Given the description of an element on the screen output the (x, y) to click on. 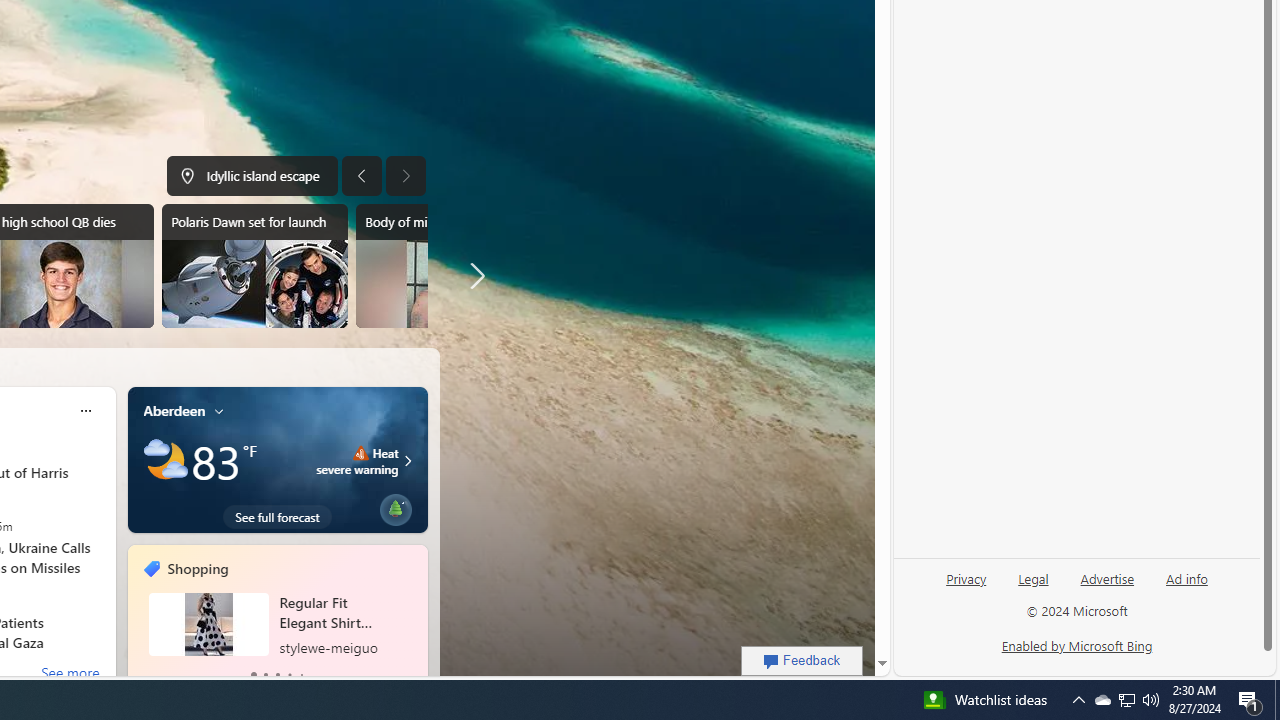
Class: weather-arrow-glyph (408, 461)
Class: icon-img (219, 410)
My location (219, 410)
Previous image (360, 175)
Idyllic island escape (251, 175)
Body of missing hiker found (447, 265)
Class: eplant-bubble (395, 509)
Polaris Dawn set for launch (254, 265)
